Given the description of an element on the screen output the (x, y) to click on. 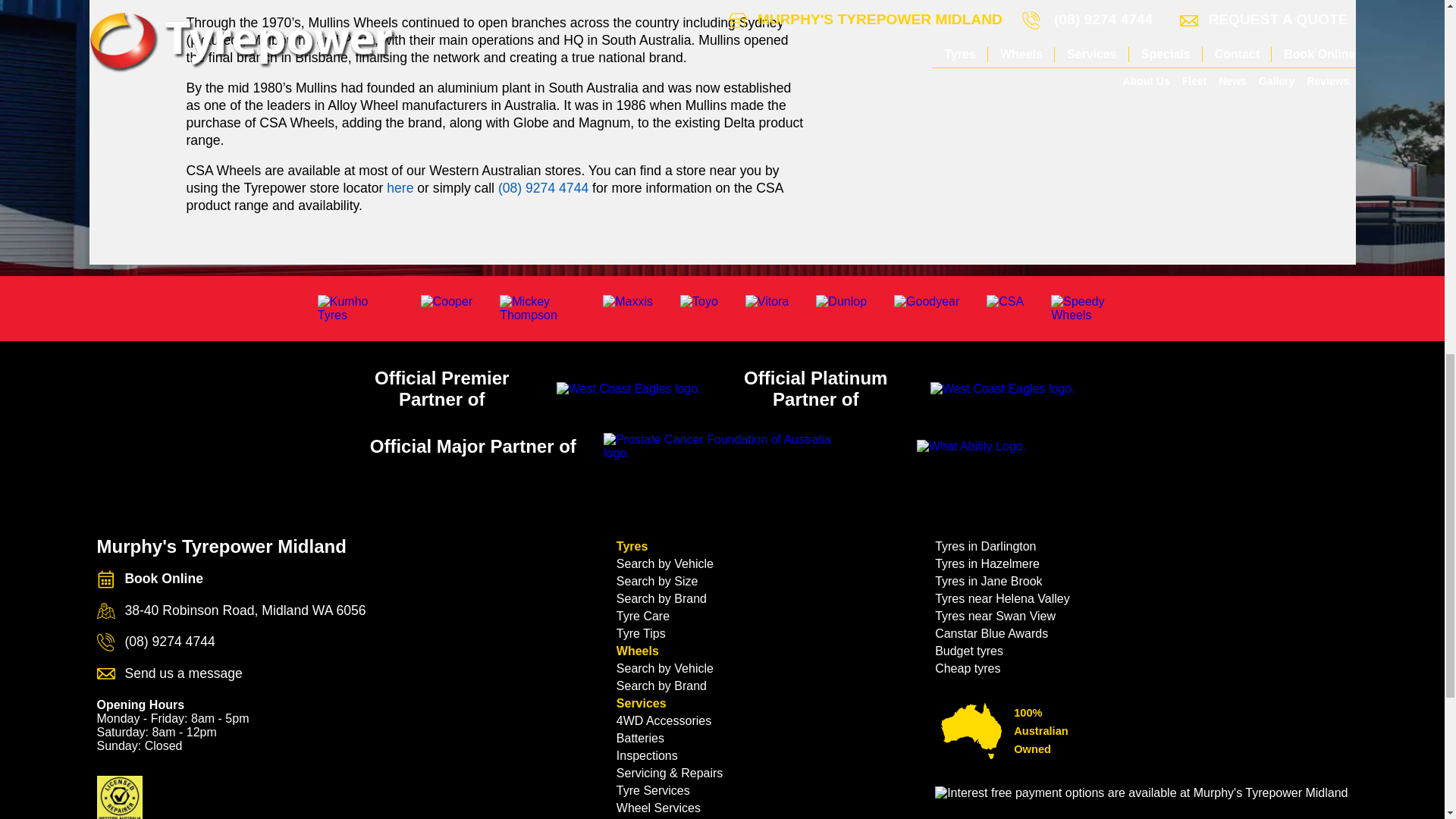
Click to call now! (542, 187)
Tyrepower are the Official Sponsor of the Perth Wildcats. (1002, 388)
Tyrepower are the Official Sponsor of the West Coast Eagles. (628, 388)
